Given the description of an element on the screen output the (x, y) to click on. 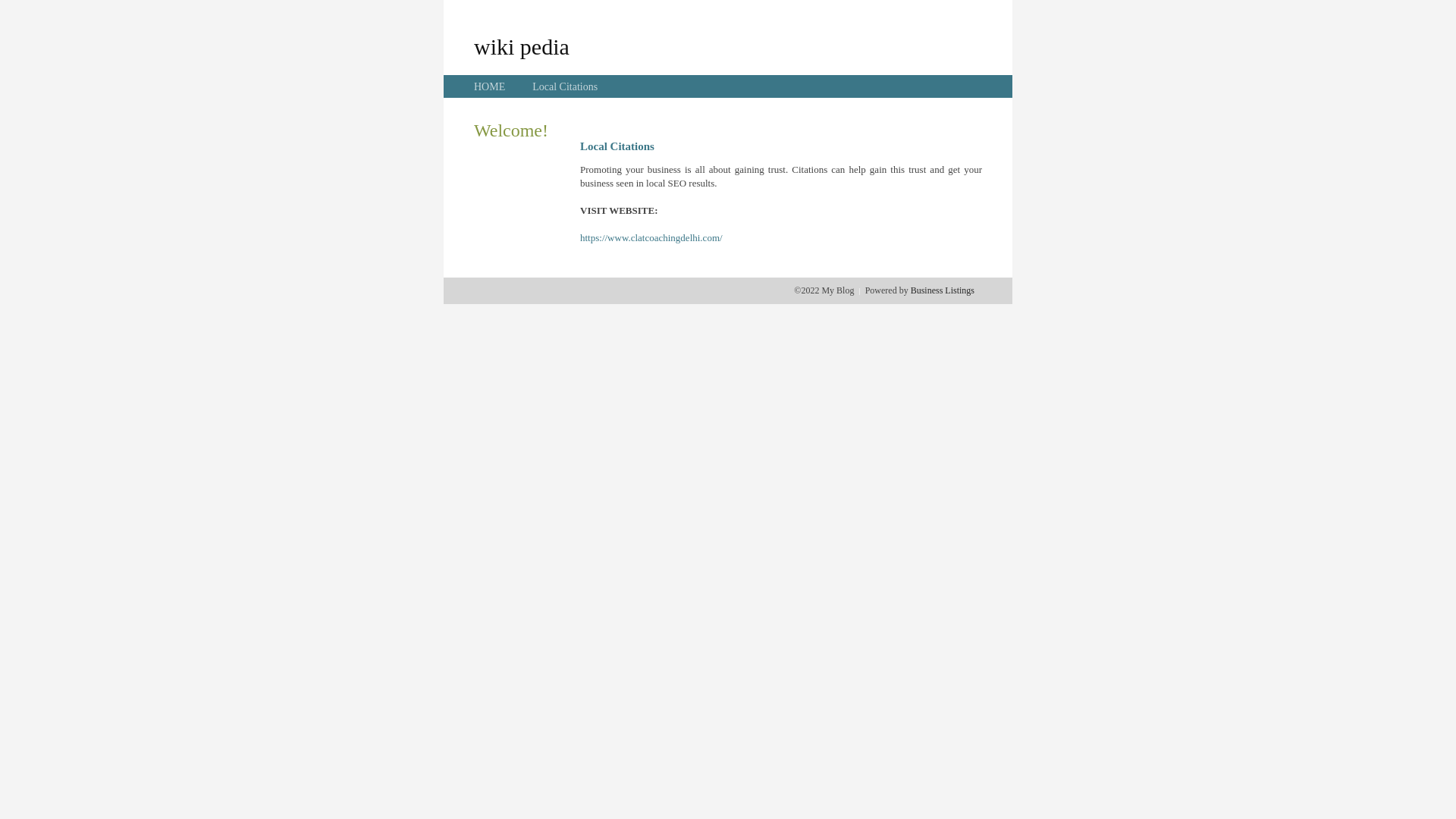
wiki pedia Element type: text (521, 46)
HOME Element type: text (489, 86)
https://www.clatcoachingdelhi.com/ Element type: text (651, 237)
Business Listings Element type: text (942, 290)
Local Citations Element type: text (564, 86)
